Given the description of an element on the screen output the (x, y) to click on. 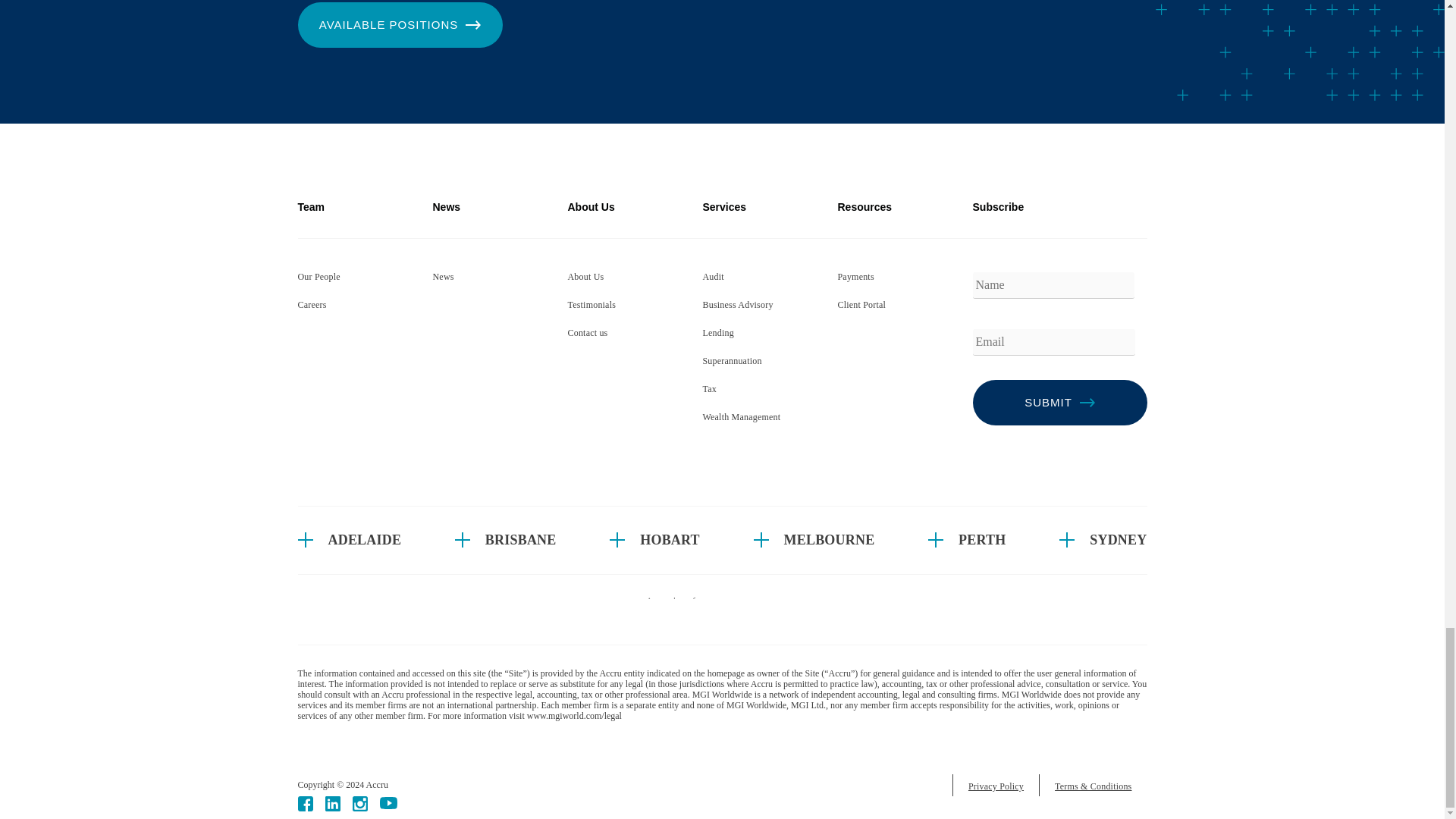
Audit (712, 276)
AVAILABLE POSITIONS (399, 24)
Business Advisory (737, 304)
Our People (318, 276)
Testimonials (591, 304)
News (442, 276)
Careers (311, 304)
Contact us (587, 332)
About Us (585, 276)
